Given the description of an element on the screen output the (x, y) to click on. 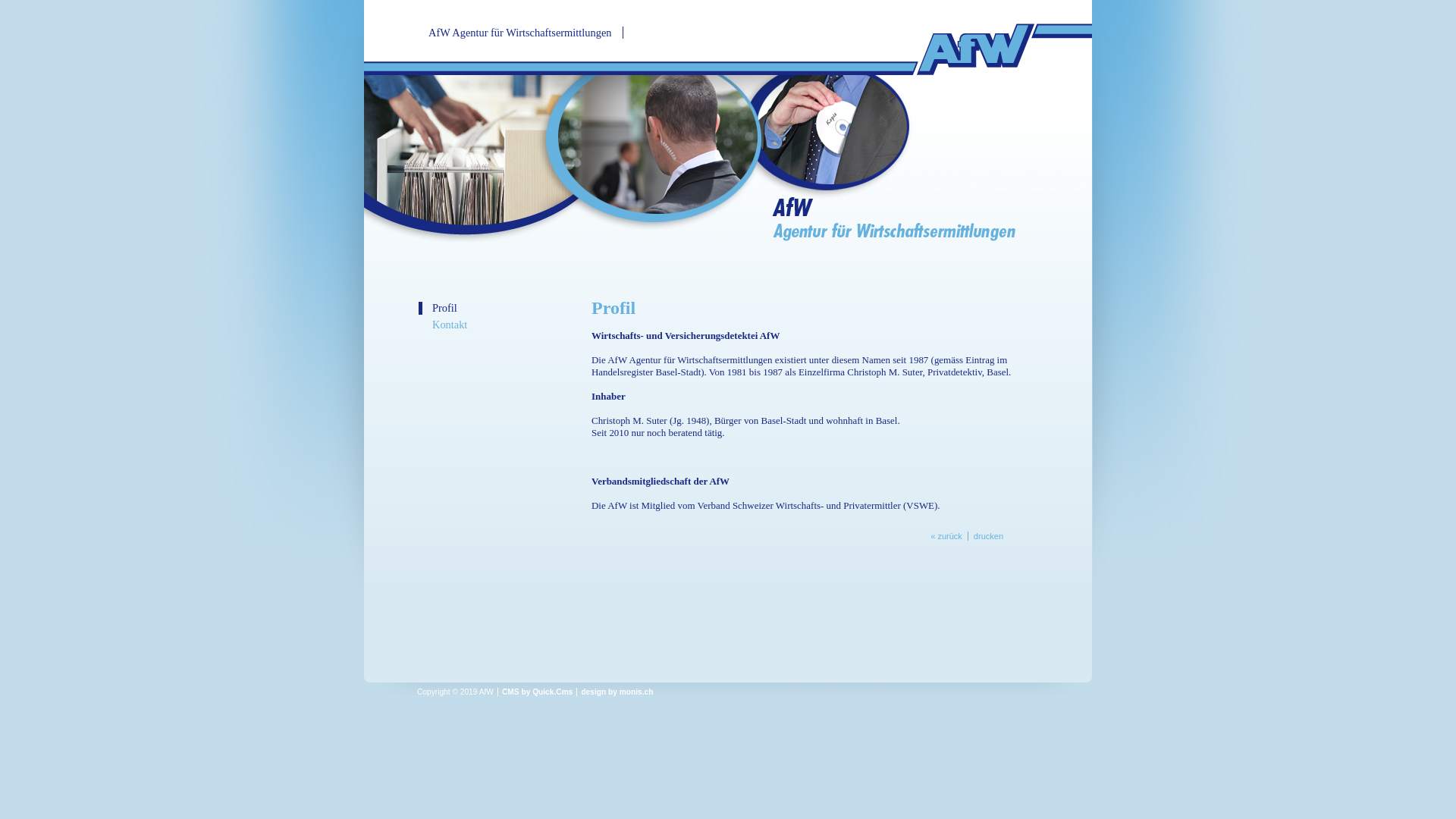
Kontakt Element type: text (502, 324)
CMS by Quick.Cms Element type: text (537, 691)
drucken Element type: text (987, 535)
Profil Element type: text (502, 307)
design by monis.ch Element type: text (616, 691)
